Given the description of an element on the screen output the (x, y) to click on. 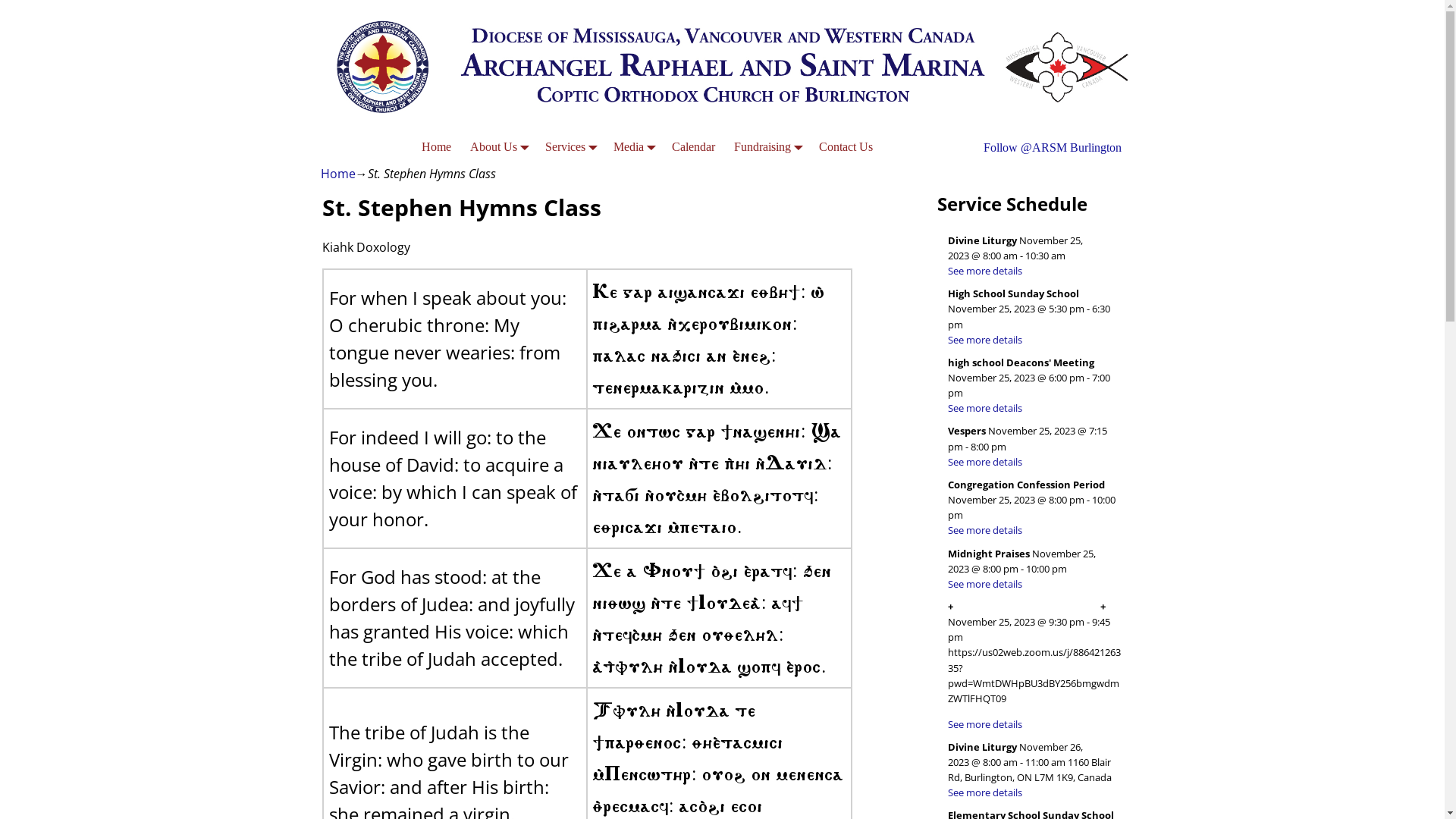
See more details Element type: text (984, 529)
See more details Element type: text (984, 270)
Calendar Element type: text (693, 147)
Follow @ARSM Burlington Element type: text (1051, 147)
See more details Element type: text (984, 583)
About Us Element type: text (498, 147)
See more details Element type: text (984, 461)
See more details Element type: text (984, 339)
See more details Element type: text (984, 407)
See more details Element type: text (984, 724)
Media Element type: text (633, 147)
See more details Element type: text (984, 792)
Services Element type: text (570, 147)
Home Element type: text (436, 147)
Home Element type: text (337, 173)
Fundraising Element type: text (766, 147)
Contact Us Element type: text (845, 147)
